Given the description of an element on the screen output the (x, y) to click on. 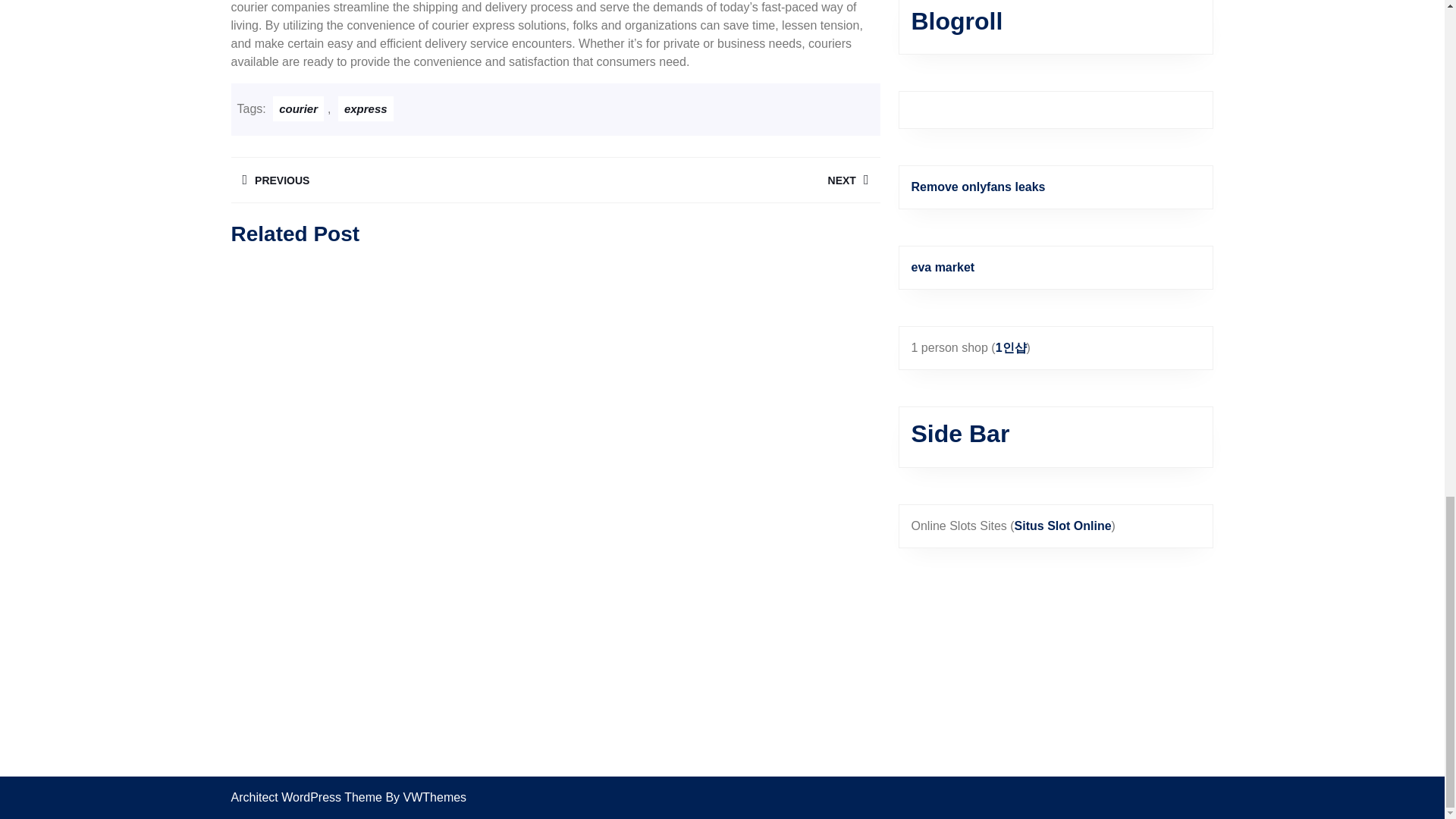
express (392, 180)
courier (365, 108)
